Given the description of an element on the screen output the (x, y) to click on. 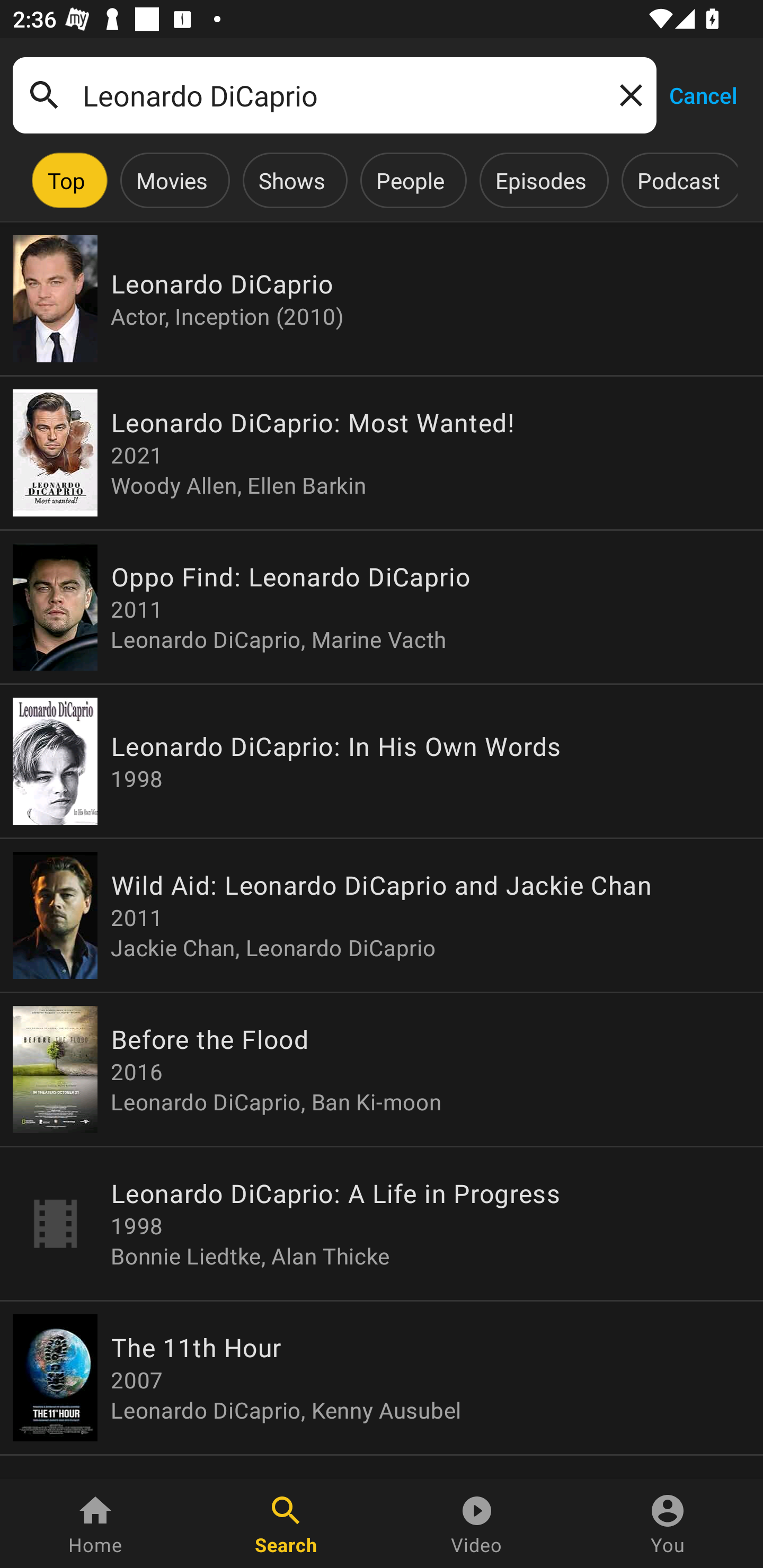
Clear query (627, 94)
Cancel (703, 94)
Leonardo DiCaprio (334, 95)
Top (66, 180)
Movies (171, 180)
Shows (291, 180)
People (410, 180)
Episodes (540, 180)
Podcast (678, 180)
Leonardo DiCaprio Actor, Inception (2010) (381, 298)
Leonardo DiCaprio: In His Own Words 1998 (381, 761)
Home (95, 1523)
Video (476, 1523)
You (667, 1523)
